Given the description of an element on the screen output the (x, y) to click on. 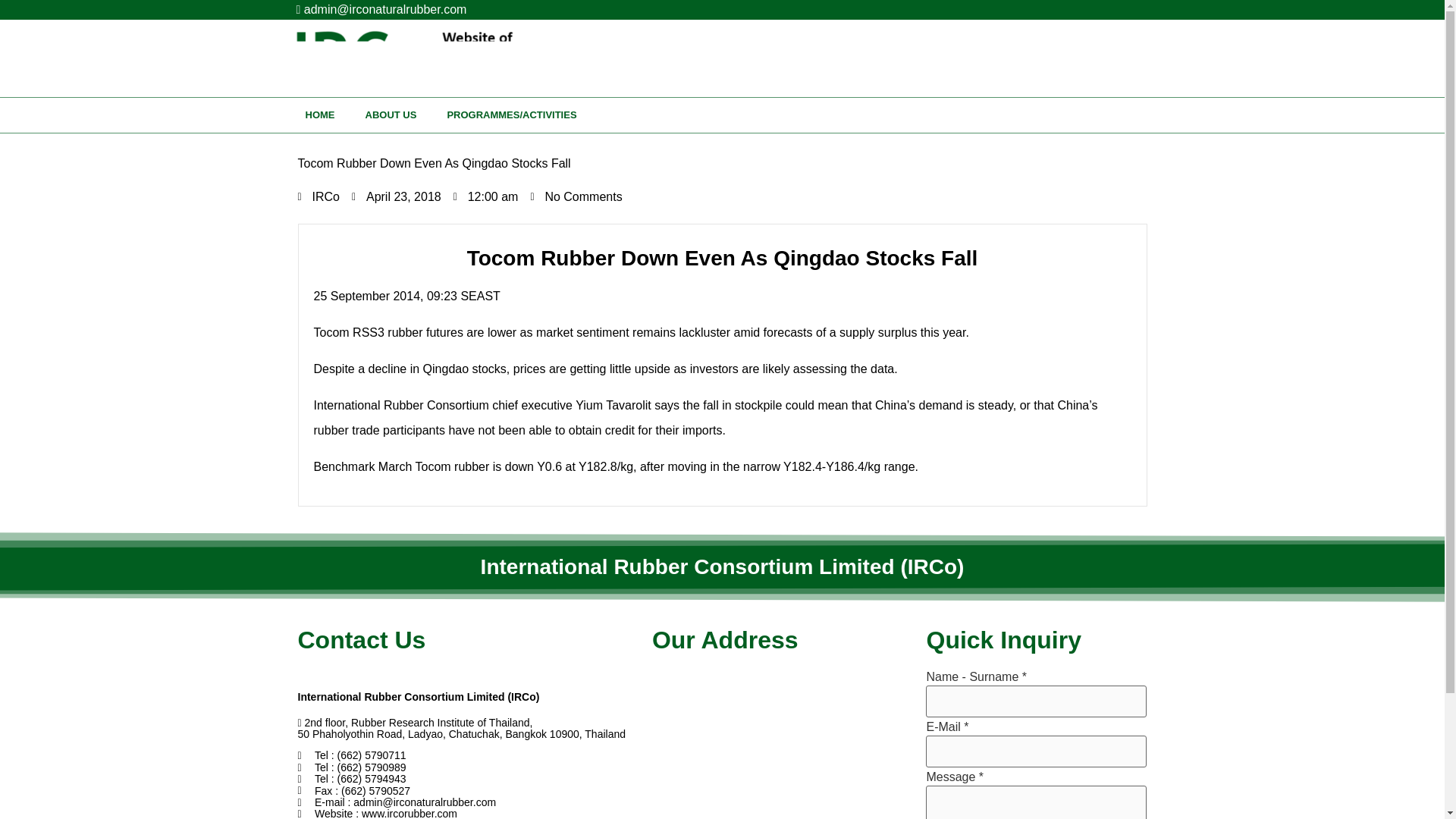
ABOUT US (391, 114)
Tocom Rubber Down Even As Qingdao Stocks Fall (722, 163)
HOME (319, 114)
